Given the description of an element on the screen output the (x, y) to click on. 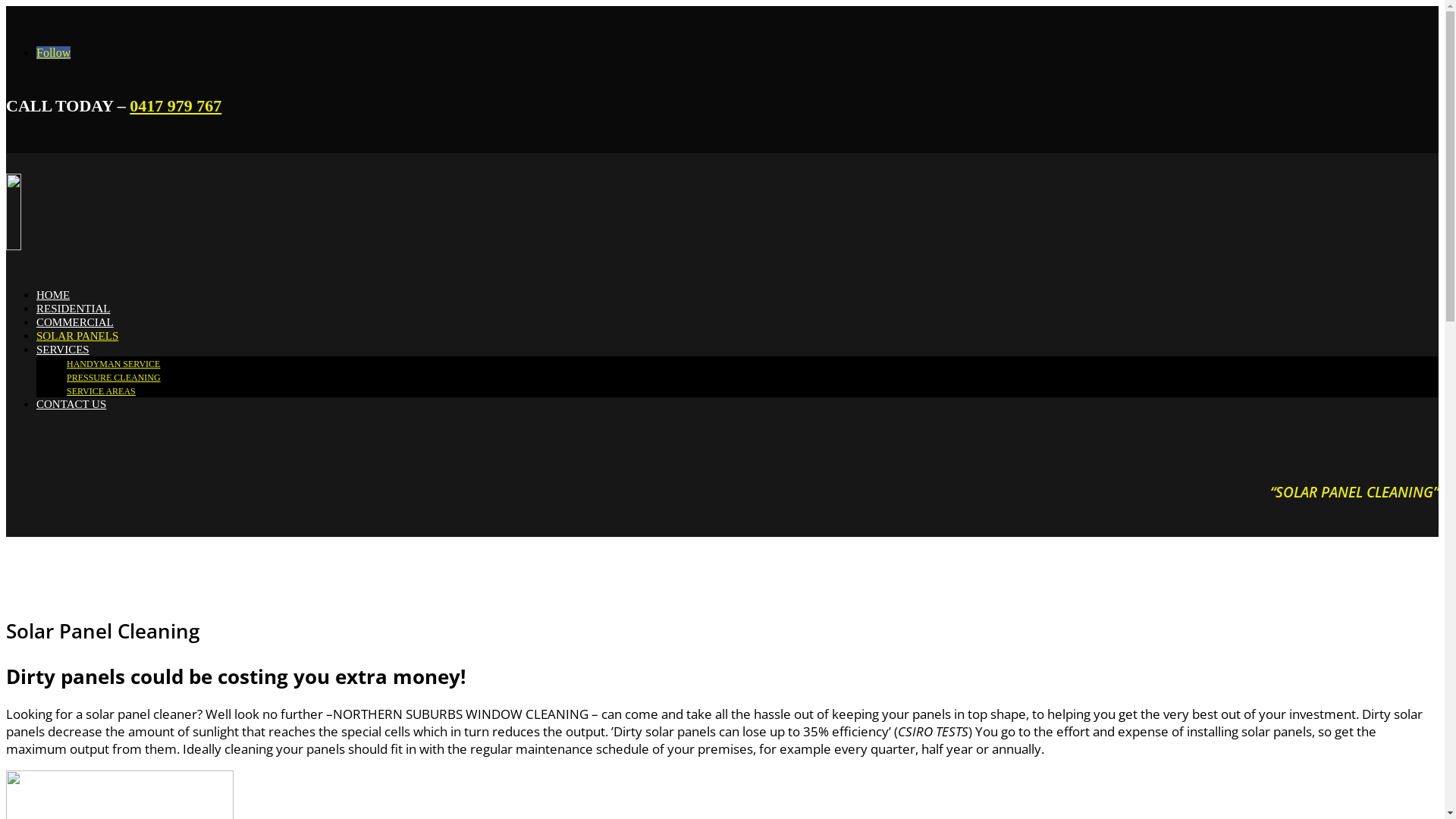
COMMERCIAL Element type: text (74, 322)
Follow Element type: text (53, 52)
SOLAR PANELS Element type: text (77, 335)
PRESSURE CLEANING Element type: text (113, 377)
SERVICES Element type: text (62, 349)
CONTACT US Element type: text (71, 404)
headway-imported-image Element type: hover (126, 211)
HANDYMAN SERVICE Element type: text (113, 363)
HOME Element type: text (52, 294)
0417 979 767 Element type: text (175, 105)
SERVICE AREAS Element type: text (100, 390)
RESIDENTIAL Element type: text (73, 308)
